Given the description of an element on the screen output the (x, y) to click on. 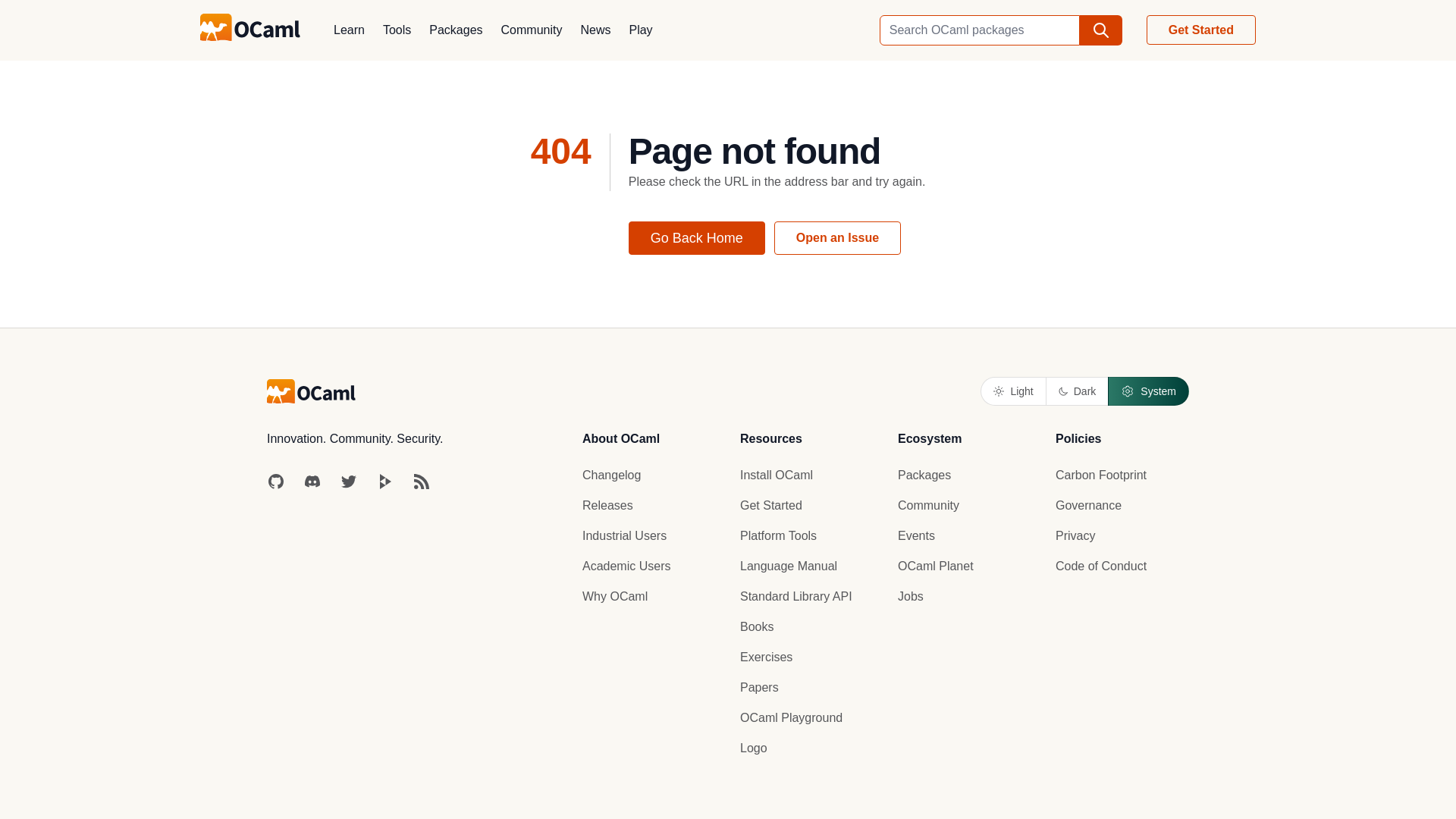
System (1148, 390)
RSS (421, 481)
Dark (1076, 390)
Discord (311, 481)
Get Started (1201, 30)
Go Back Home (696, 237)
Twitter (348, 481)
GitHub (275, 481)
News (595, 30)
Peertube (384, 481)
